Given the description of an element on the screen output the (x, y) to click on. 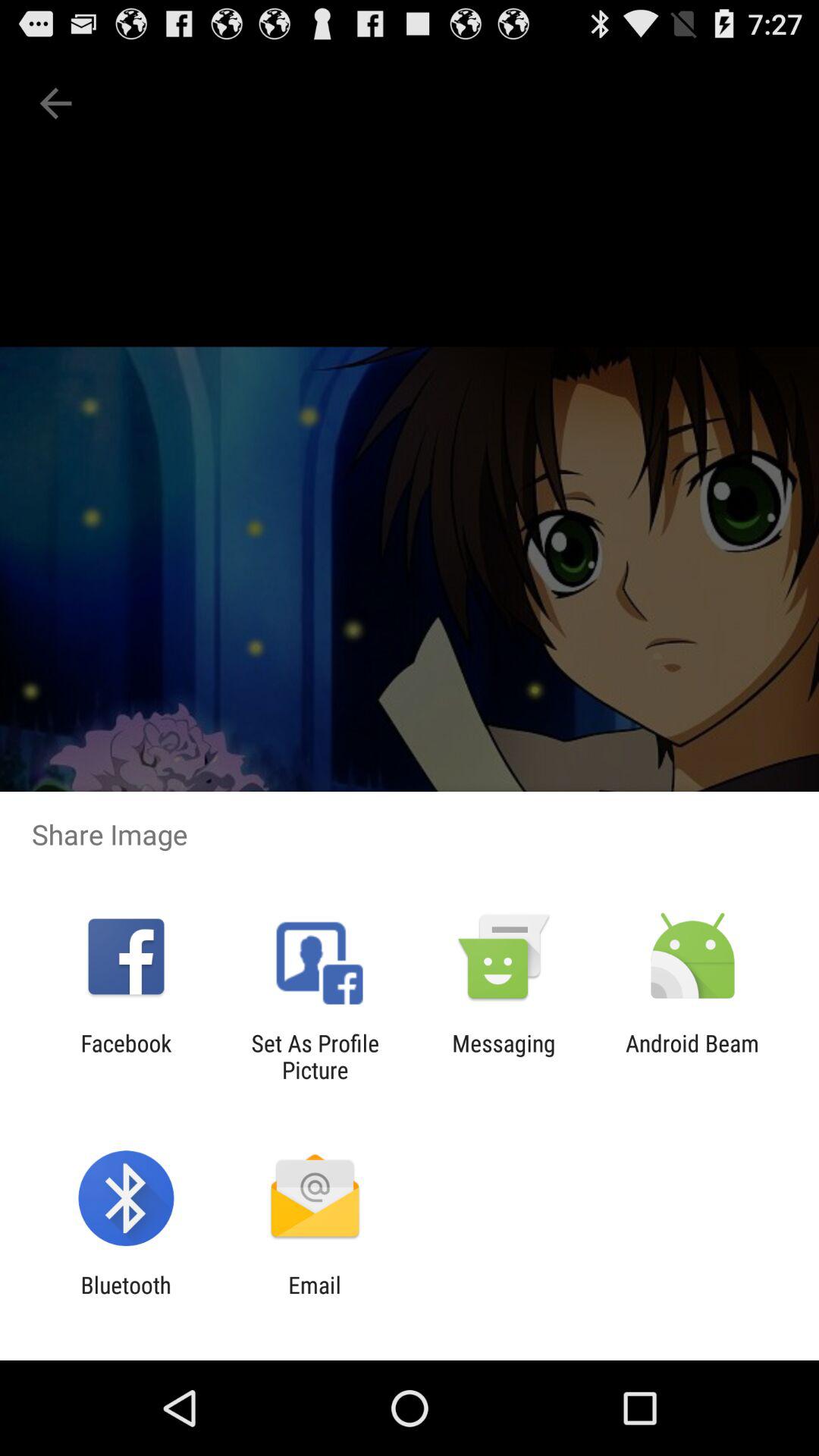
tap the email (314, 1298)
